Given the description of an element on the screen output the (x, y) to click on. 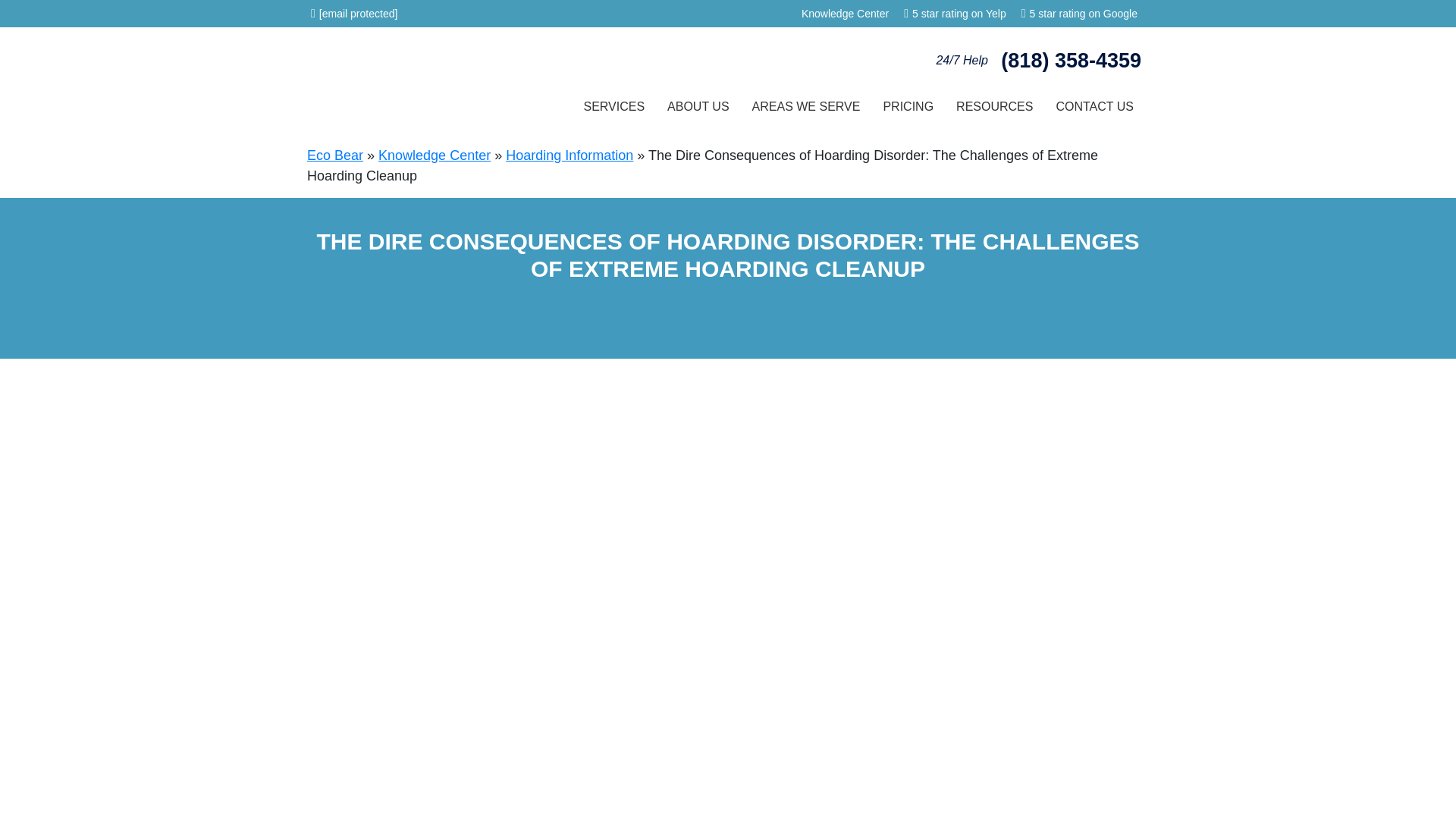
RESOURCES (993, 106)
Knowledge Center (845, 13)
5 star rating on Yelp (959, 13)
ABOUT US (698, 106)
CONTACT US (1093, 106)
AREAS WE SERVE (806, 106)
PRICING (907, 106)
5 star rating on Google (1083, 13)
SERVICES (614, 106)
